Given the description of an element on the screen output the (x, y) to click on. 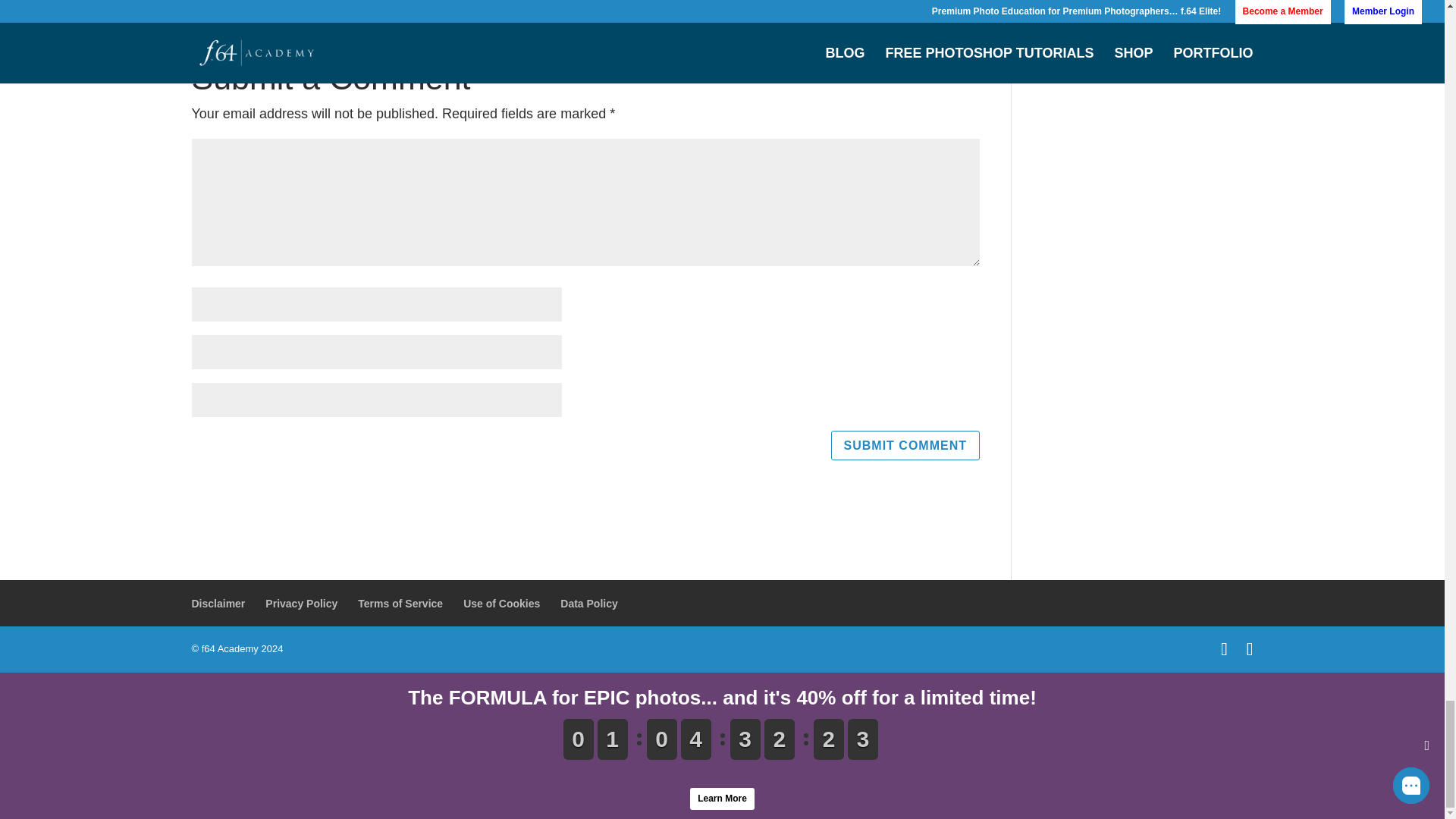
Submit Comment (905, 445)
Disclaimer (217, 603)
Terms of Service (400, 603)
Privacy Policy (300, 603)
Submit Comment (905, 445)
Use of Cookies (501, 603)
